Given the description of an element on the screen output the (x, y) to click on. 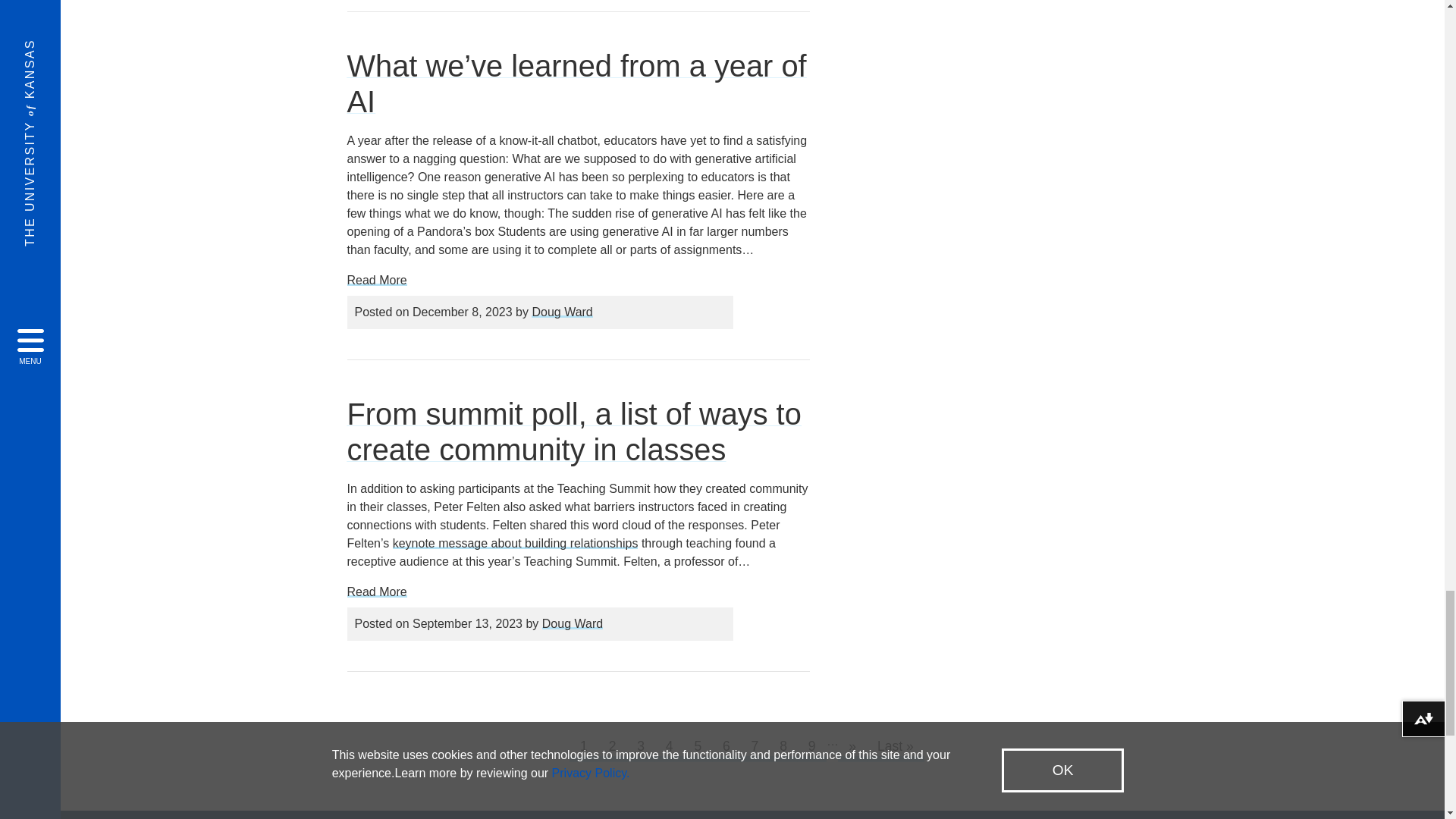
Go to page 3 (641, 747)
Go to page 4 (668, 747)
Go to page 8 (782, 747)
Current page (583, 747)
Go to page 9 (811, 747)
Go to last page (895, 747)
Go to page 2 (611, 747)
Go to page 7 (754, 747)
Go to page 6 (726, 747)
Go to page 5 (697, 747)
Go to next page (852, 747)
